Given the description of an element on the screen output the (x, y) to click on. 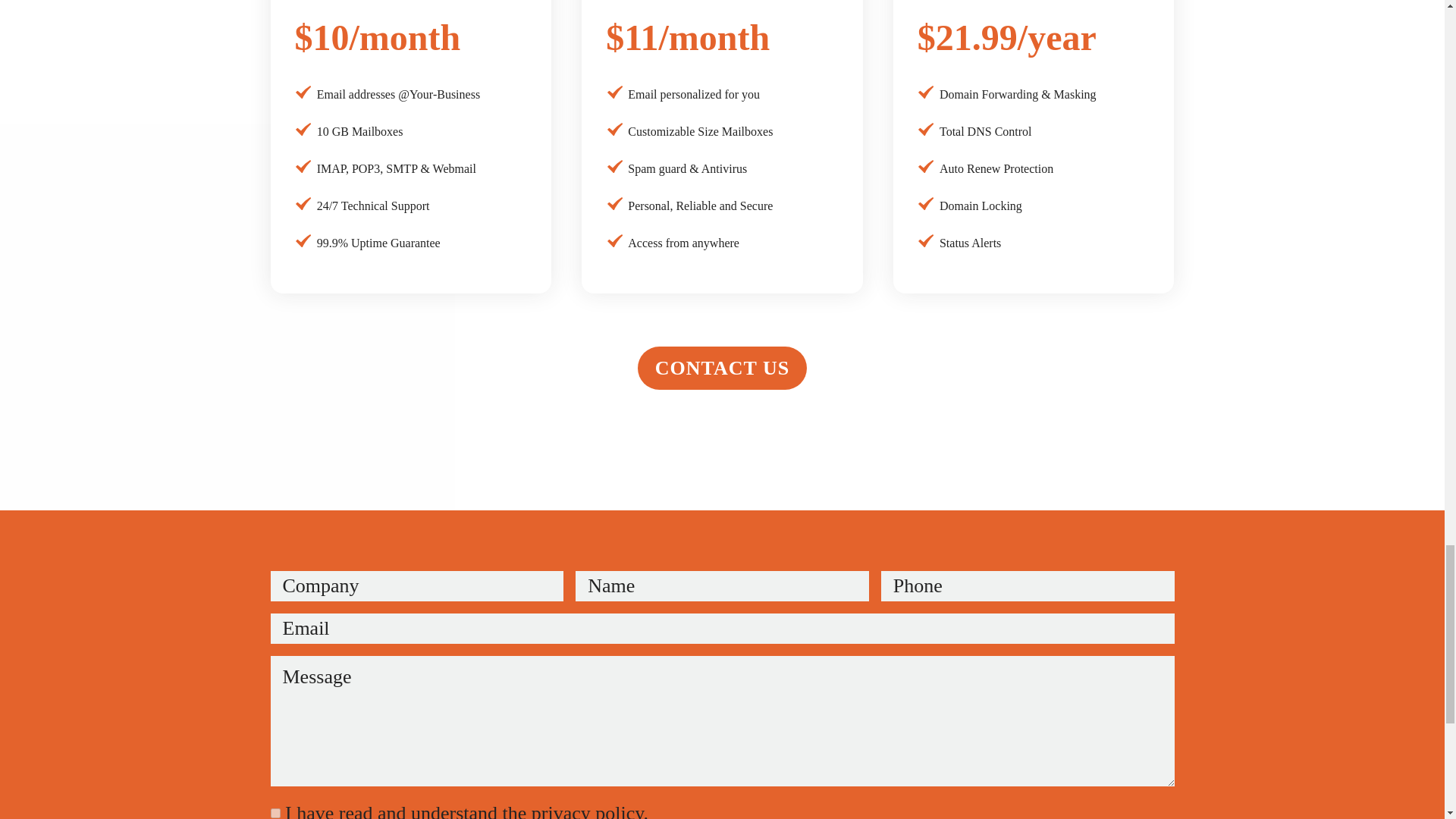
I have read and understand the privacy policy. (466, 810)
CONTACT US (721, 367)
0 (274, 813)
